Given the description of an element on the screen output the (x, y) to click on. 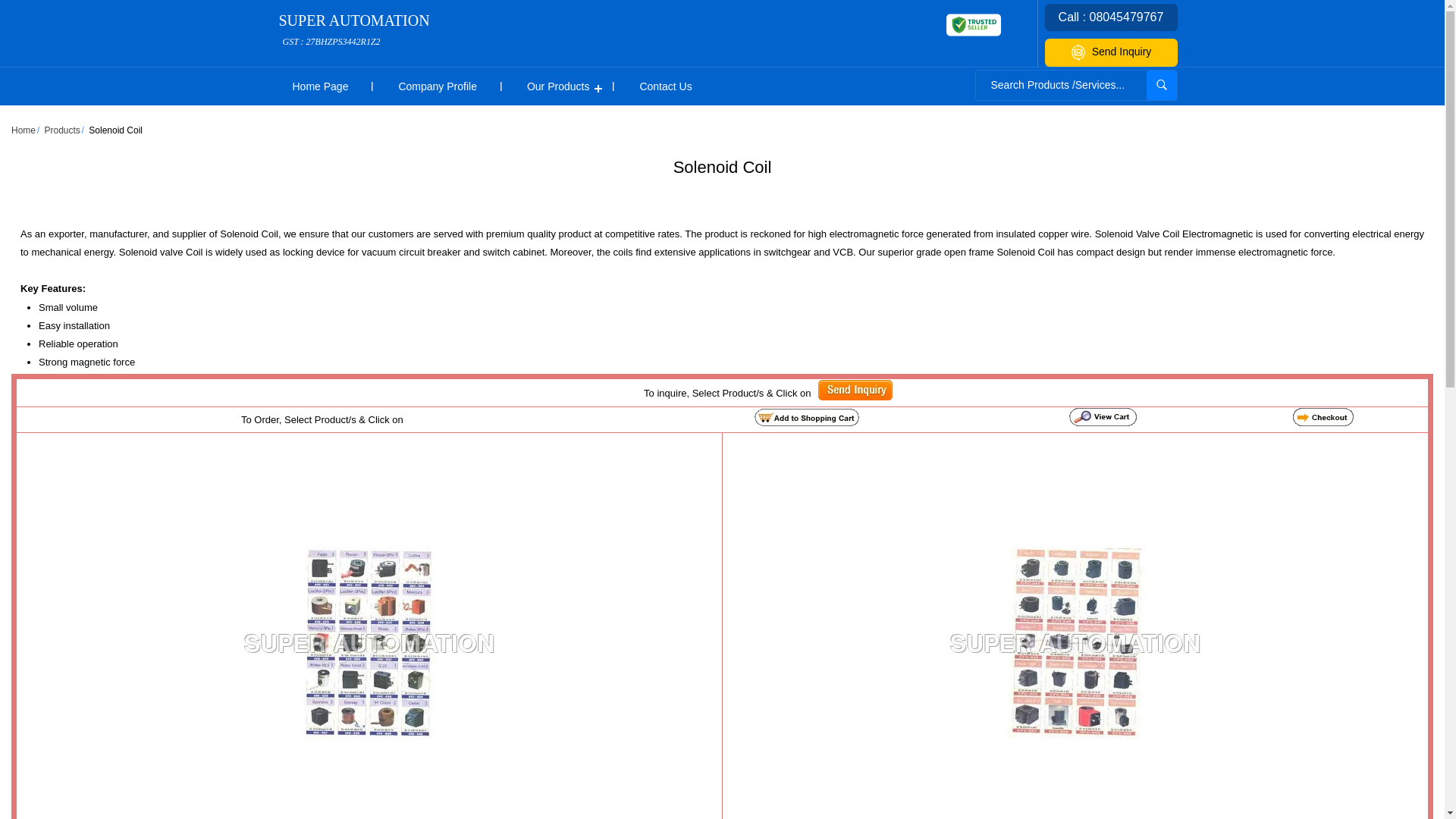
Checkout (1322, 416)
Company Profile (437, 86)
Our Products (558, 86)
Home Page (319, 86)
View Shopping Cart (1102, 416)
submit (1161, 84)
Send Inquiry (855, 390)
Add to Shopping Cart (806, 416)
